Given the description of an element on the screen output the (x, y) to click on. 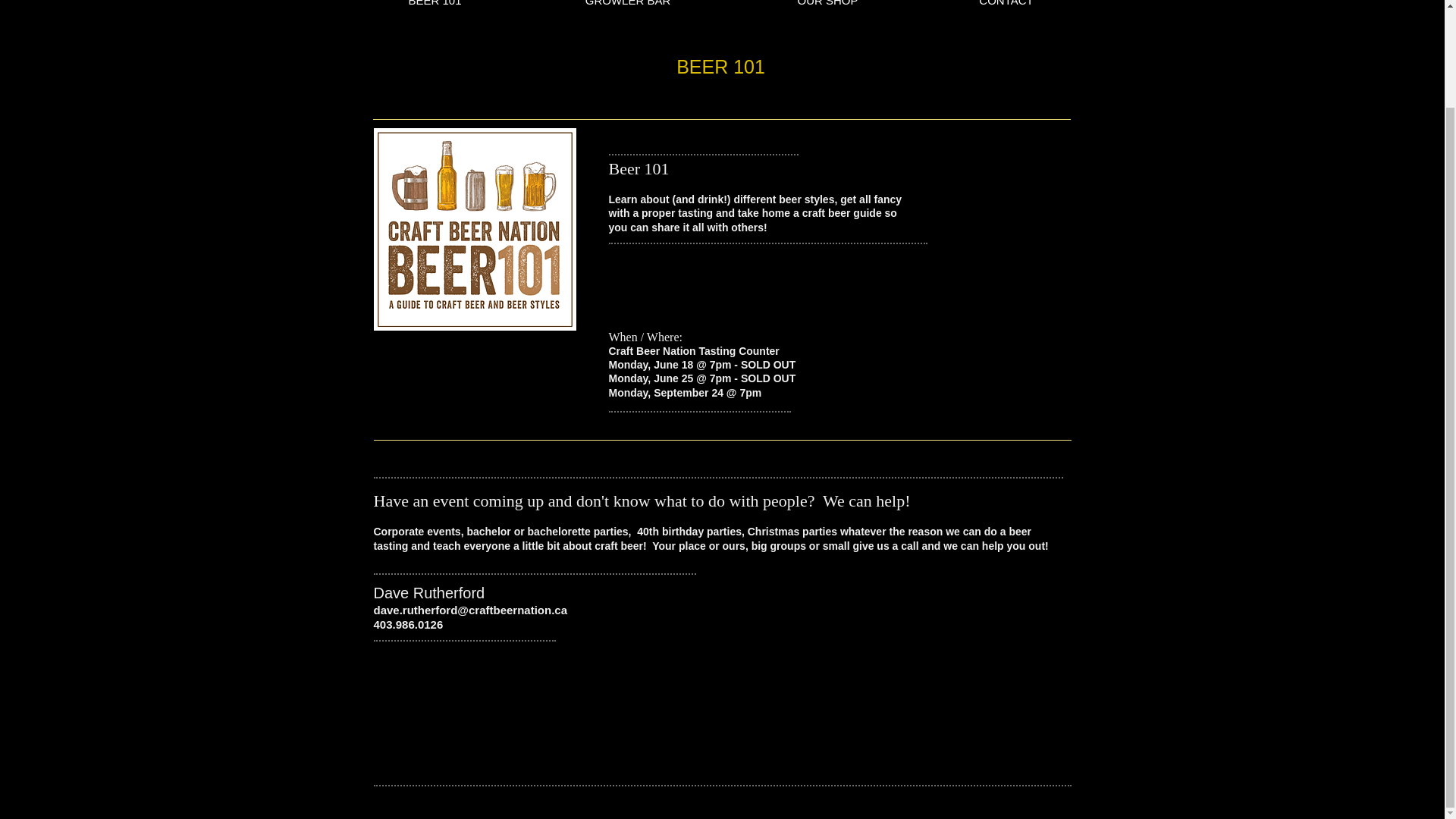
CONTACT (1006, 6)
OUR SHOP (827, 6)
GROWLER BAR (627, 6)
BEER 101 (434, 6)
